Given the description of an element on the screen output the (x, y) to click on. 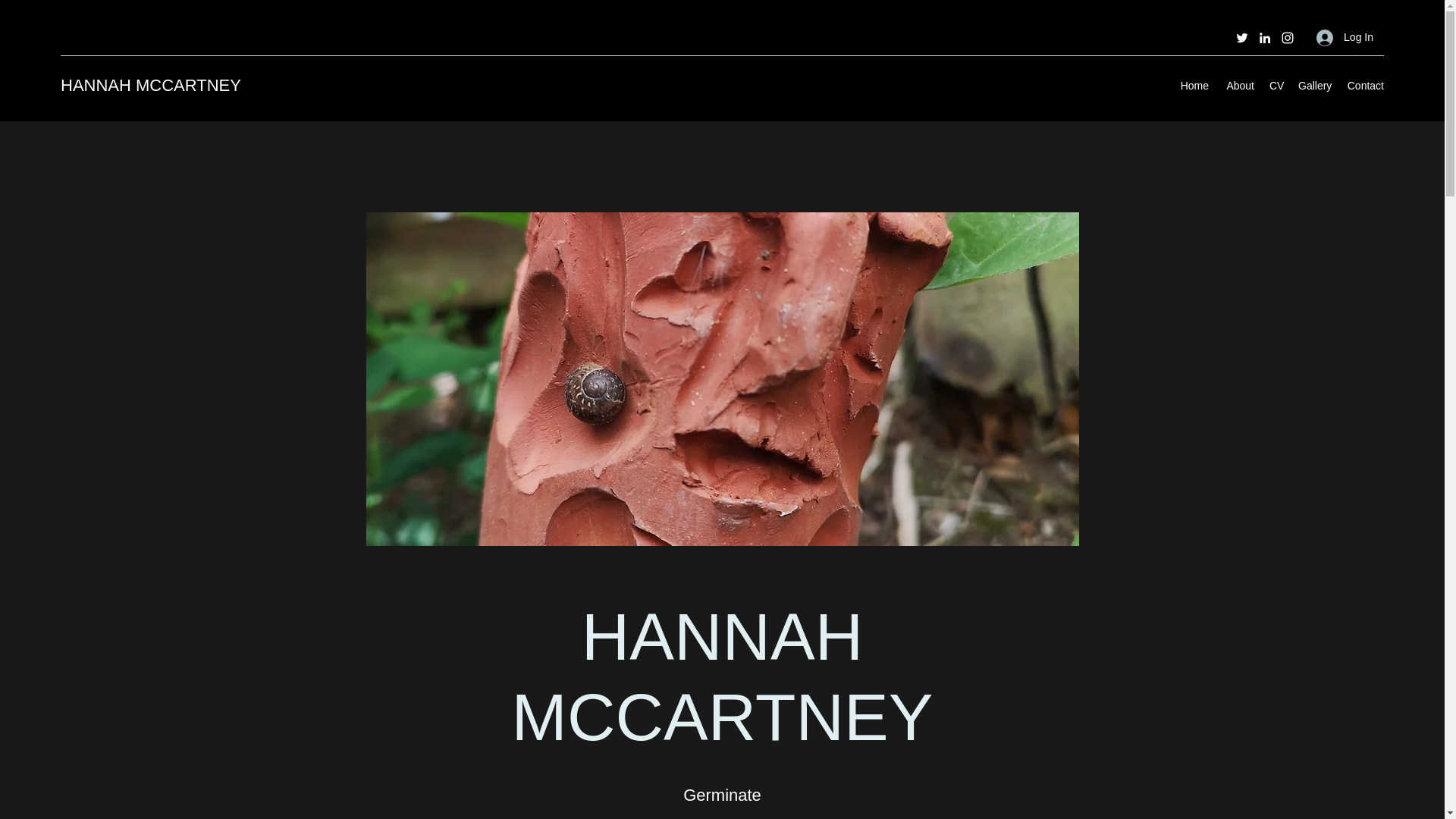
Log In (1345, 37)
HANNAH MCCARTNEY (151, 85)
About (1238, 85)
Home (1193, 85)
Contact (1364, 85)
Gallery (1314, 85)
CV (1276, 85)
